Given the description of an element on the screen output the (x, y) to click on. 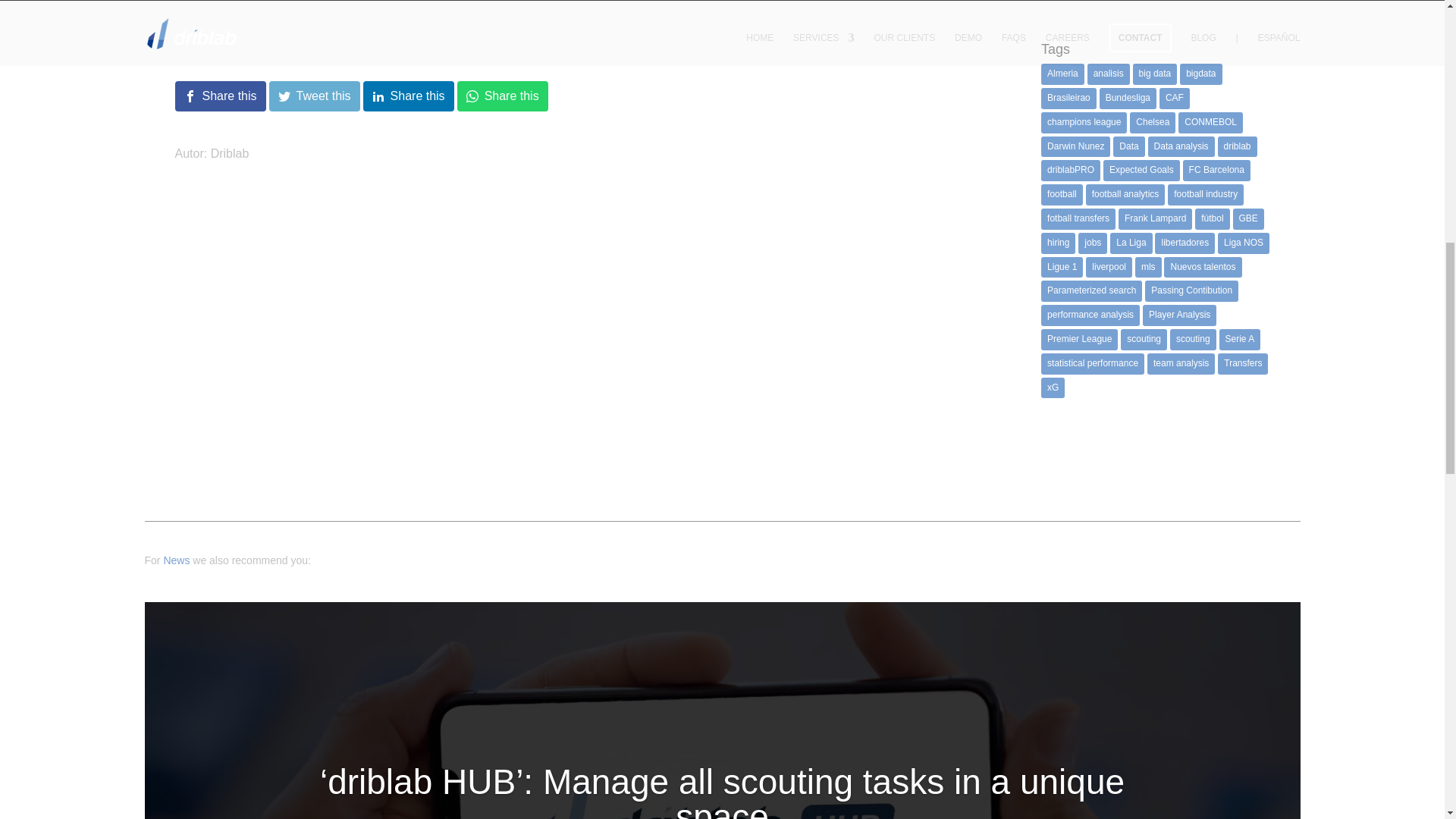
Tweet this (314, 96)
Share this (408, 96)
Share this (219, 96)
Share this (502, 96)
